Given the description of an element on the screen output the (x, y) to click on. 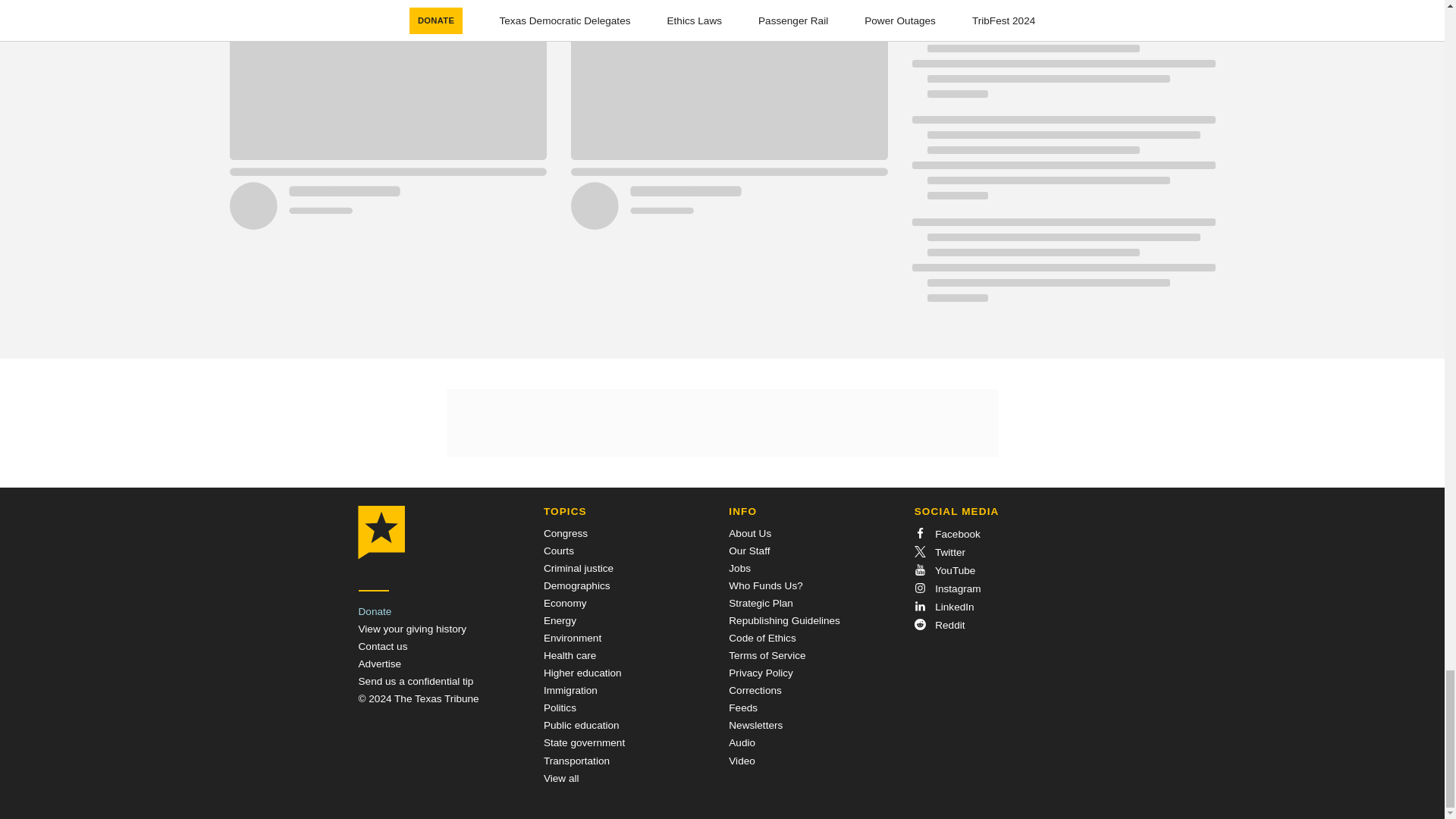
Video (742, 760)
Strategic Plan (761, 603)
Republishing Guidelines (784, 620)
Loading indicator (1062, 63)
Facebook (946, 533)
Loading indicator (1062, 5)
Donate (374, 611)
Advertise (379, 663)
Feeds (743, 707)
Who Funds Us? (765, 585)
Audio (742, 742)
Newsletters (756, 725)
Loading indicator (1062, 165)
Loading indicator (1062, 267)
Code of Ethics (761, 637)
